Given the description of an element on the screen output the (x, y) to click on. 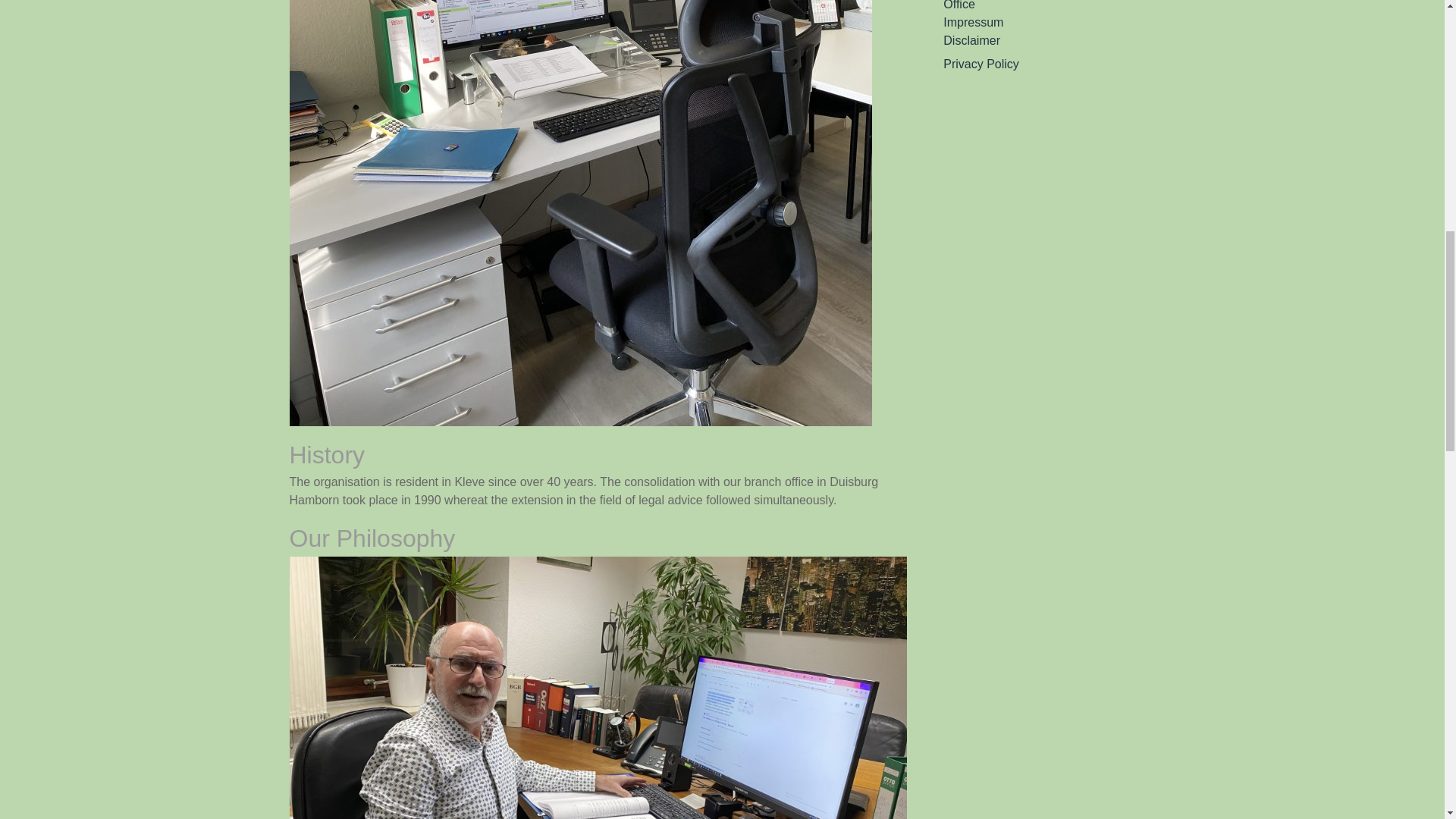
Disclaimer (1048, 40)
Office (1048, 6)
Impressum (1048, 22)
Privacy Policy (1048, 64)
